Given the description of an element on the screen output the (x, y) to click on. 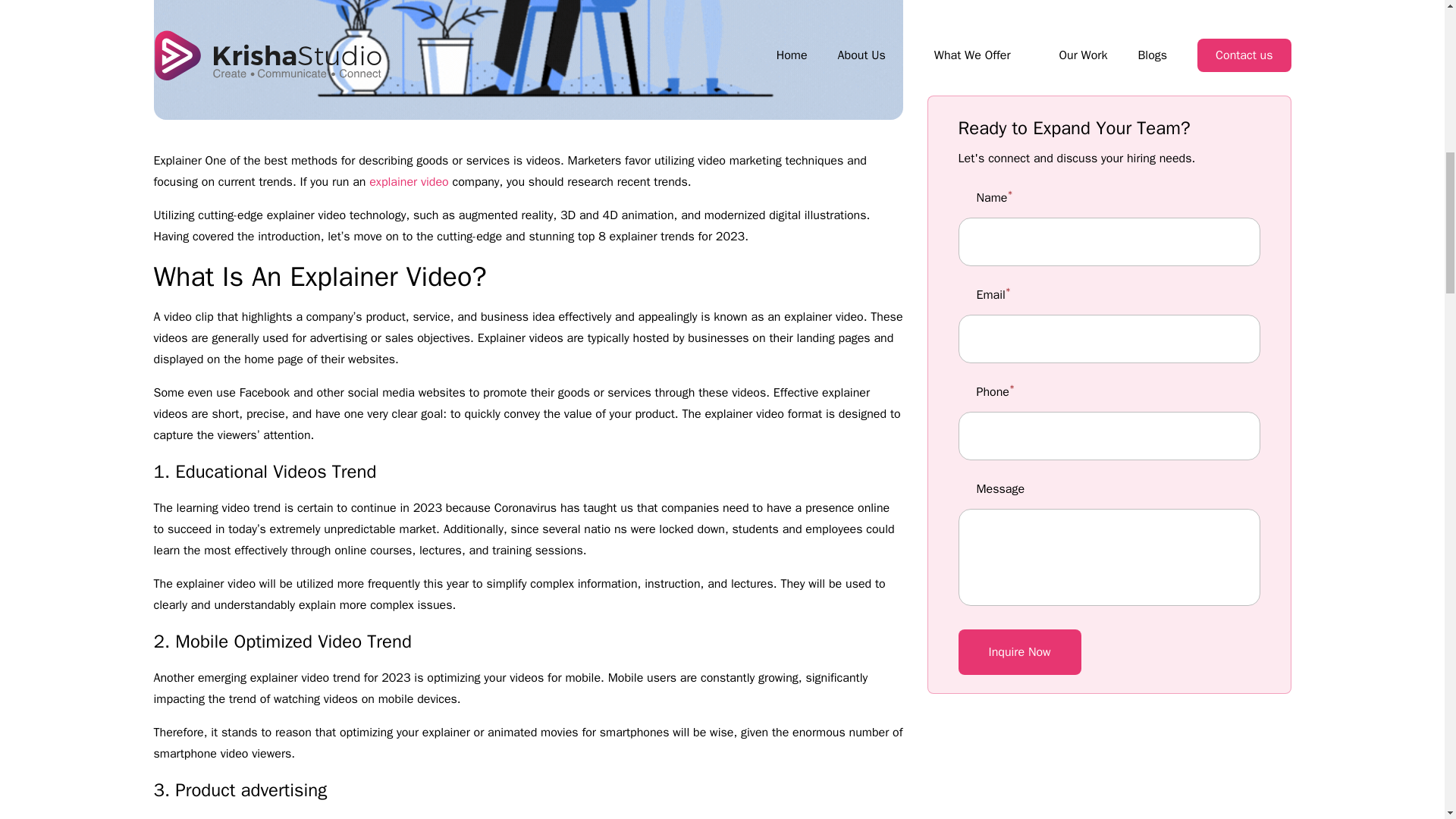
Inquire Now (1019, 251)
 explainer video  (408, 181)
Inquire Now (1019, 251)
